Given the description of an element on the screen output the (x, y) to click on. 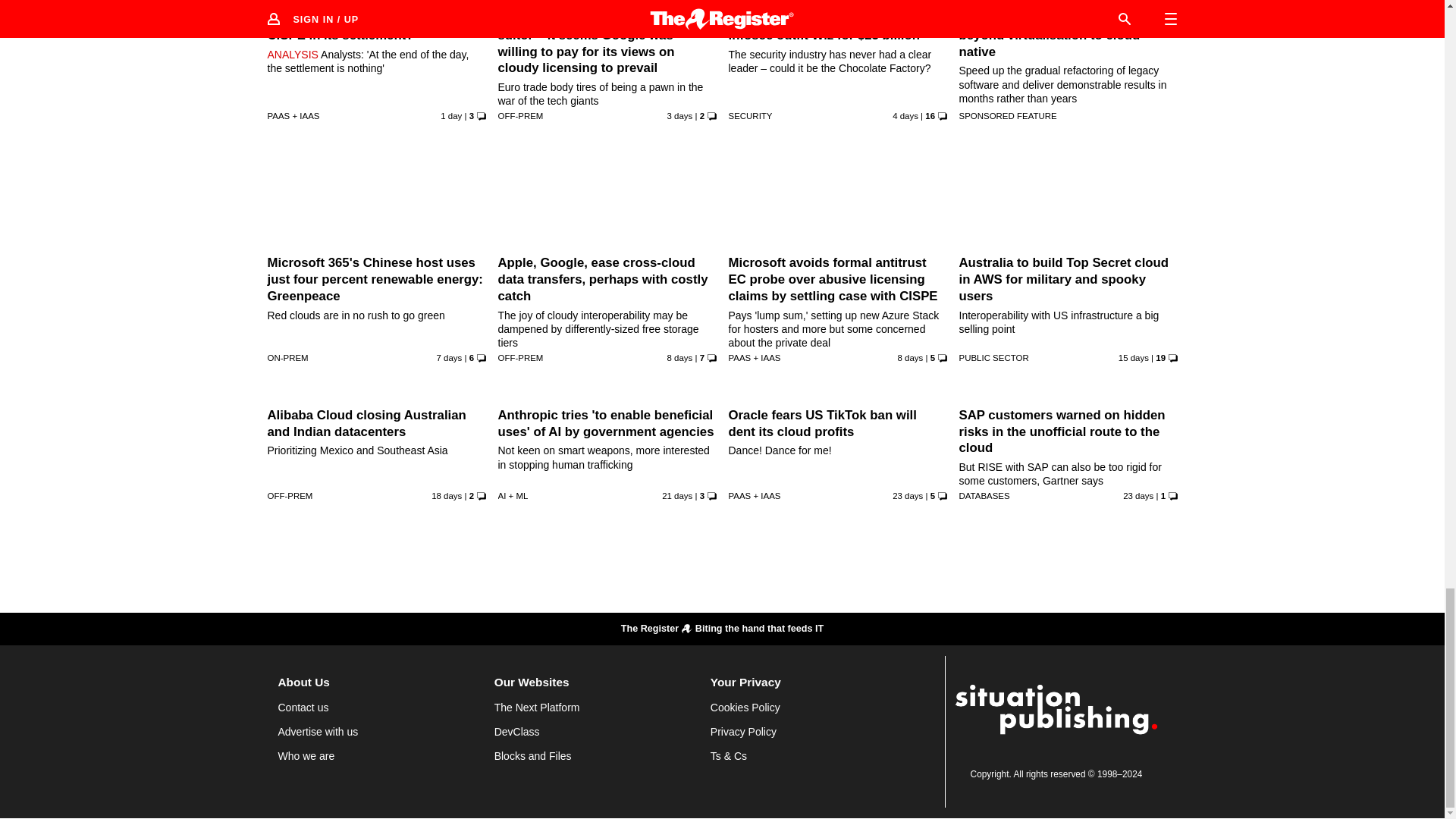
10 Jul 2024 15:21 (910, 357)
4 Jul 2024 3:58 (1133, 357)
1 Jul 2024 0:19 (445, 495)
15 Jul 2024 4:39 (905, 115)
17 Jul 2024 13:42 (451, 115)
11 Jul 2024 4:34 (679, 357)
12 Jul 2024 6:27 (449, 357)
27 Jun 2024 12:34 (677, 495)
16 Jul 2024 4:1 (679, 115)
